Given the description of an element on the screen output the (x, y) to click on. 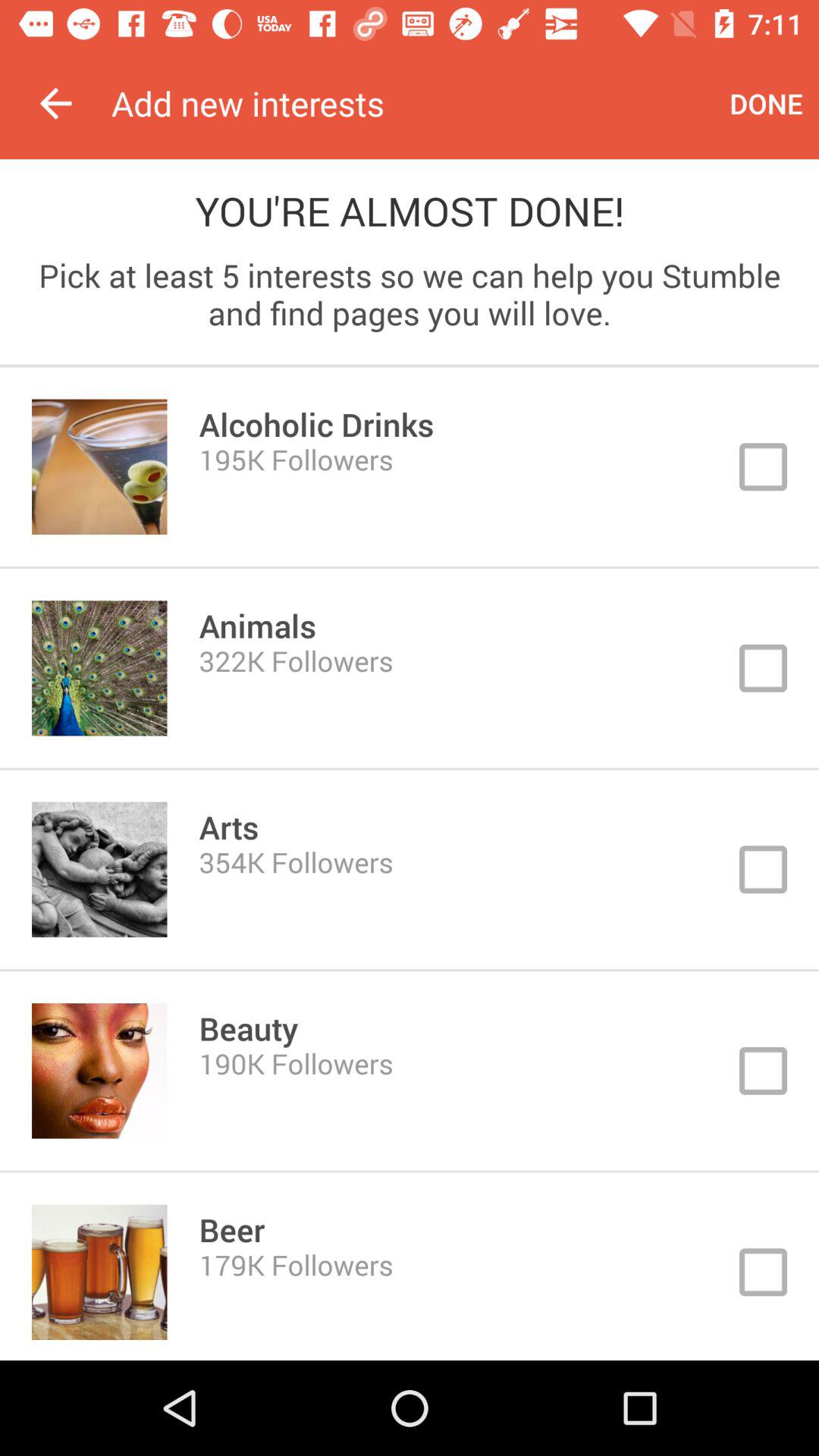
select interest (409, 466)
